Given the description of an element on the screen output the (x, y) to click on. 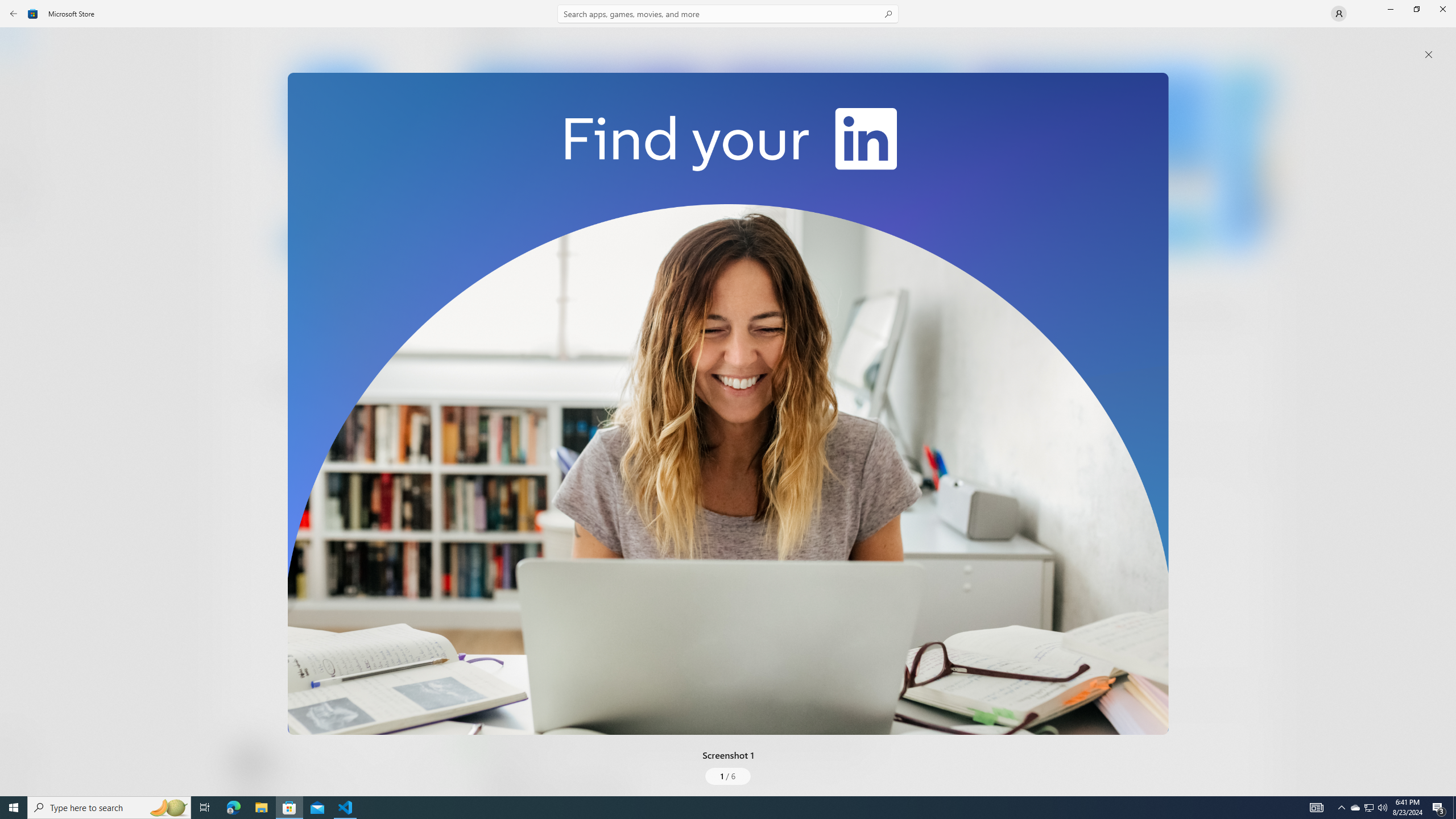
Share (424, 769)
3.9 stars. Click to skip to ratings and reviews (307, 315)
Search (727, 13)
Show more (485, 426)
Screenshot 2 (836, 158)
Back (13, 13)
See all (1253, 41)
Get (334, 241)
Show all ratings and reviews (1253, 465)
